Given the description of an element on the screen output the (x, y) to click on. 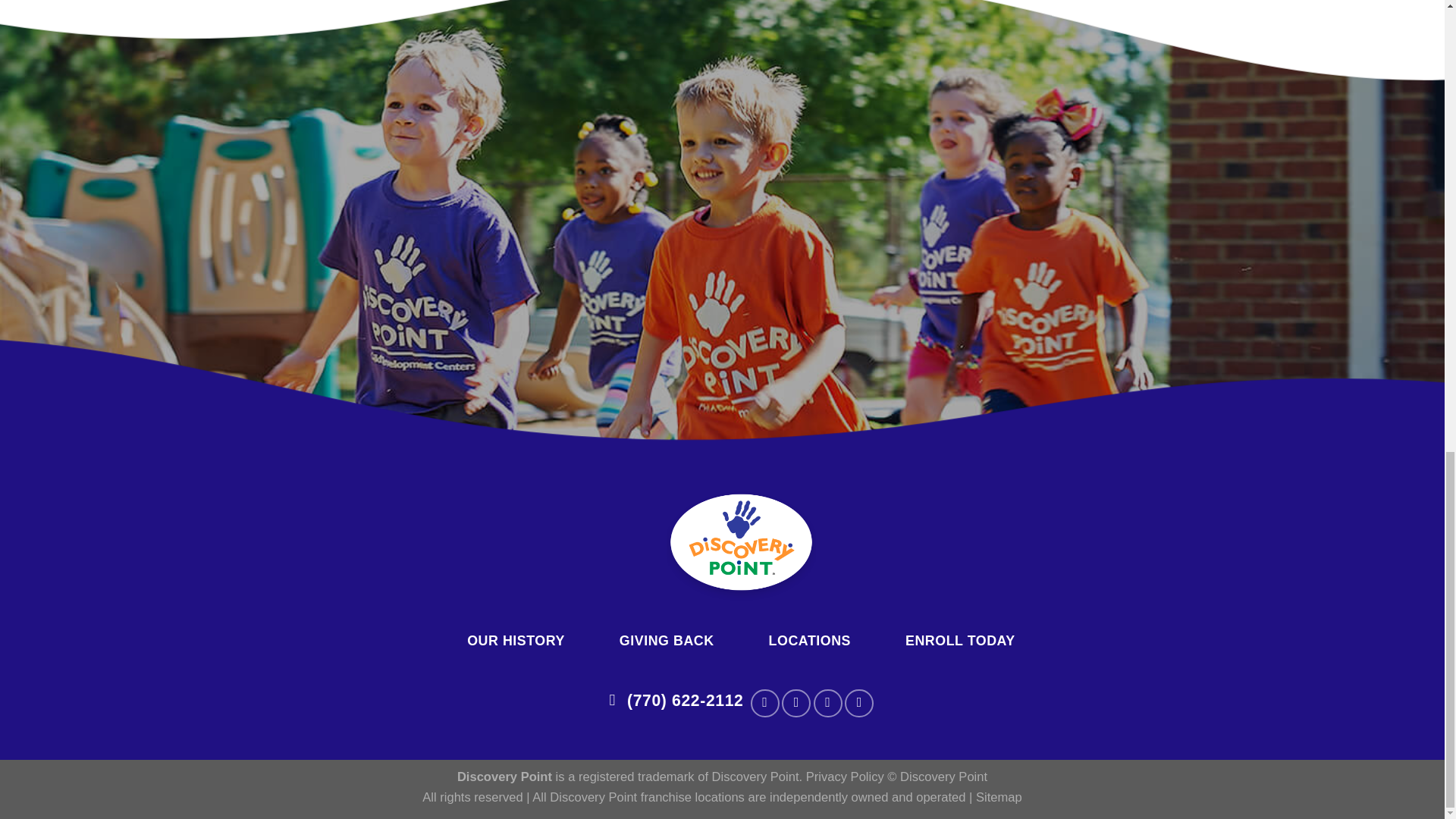
GIVING BACK (665, 641)
Follow on Facebook (764, 703)
Follow on Instagram (795, 703)
OUR HISTORY (515, 641)
Follow on Twitter (828, 703)
ENROLL TODAY (959, 641)
LOCATIONS (809, 641)
Follow on LinkedIn (858, 703)
